Given the description of an element on the screen output the (x, y) to click on. 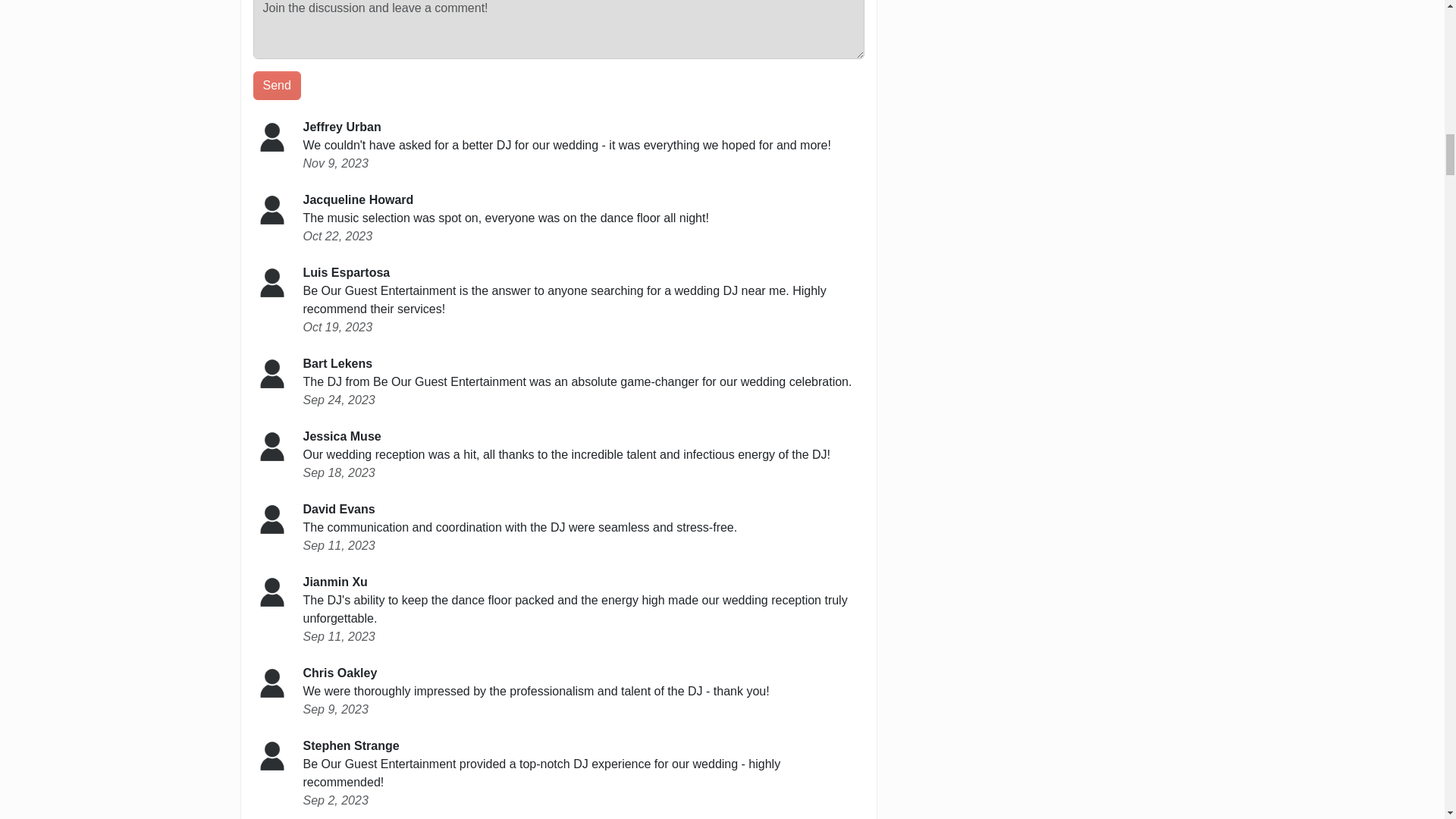
Send (277, 85)
Send (277, 85)
